Given the description of an element on the screen output the (x, y) to click on. 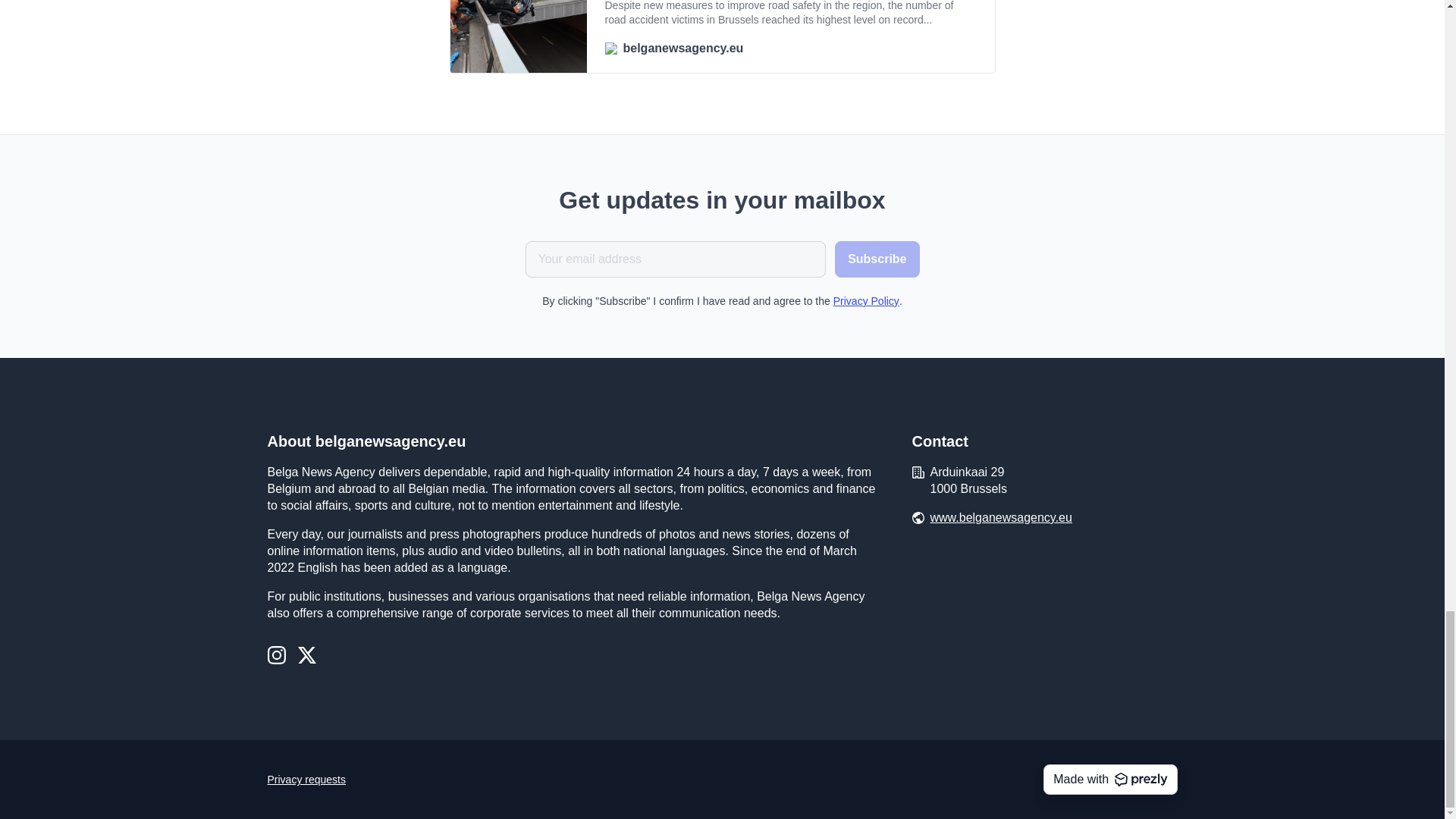
www.belganewsagency.eu (1000, 517)
belganewsagency.eu (790, 48)
Privacy Policy (865, 300)
Subscribe (876, 258)
Made with (1109, 779)
Privacy requests (305, 779)
